Given the description of an element on the screen output the (x, y) to click on. 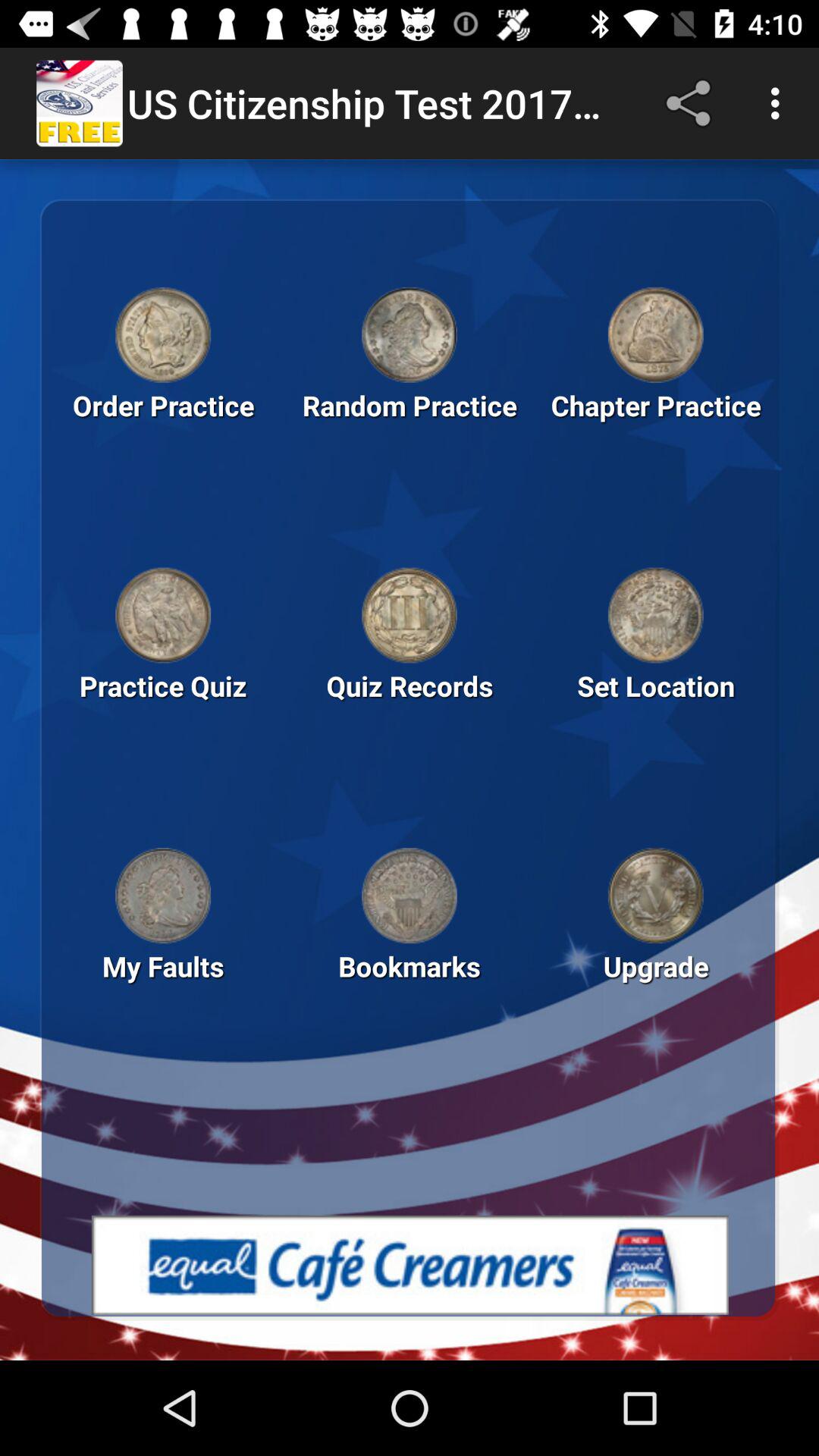
check errors on your citizenship test (163, 895)
